Given the description of an element on the screen output the (x, y) to click on. 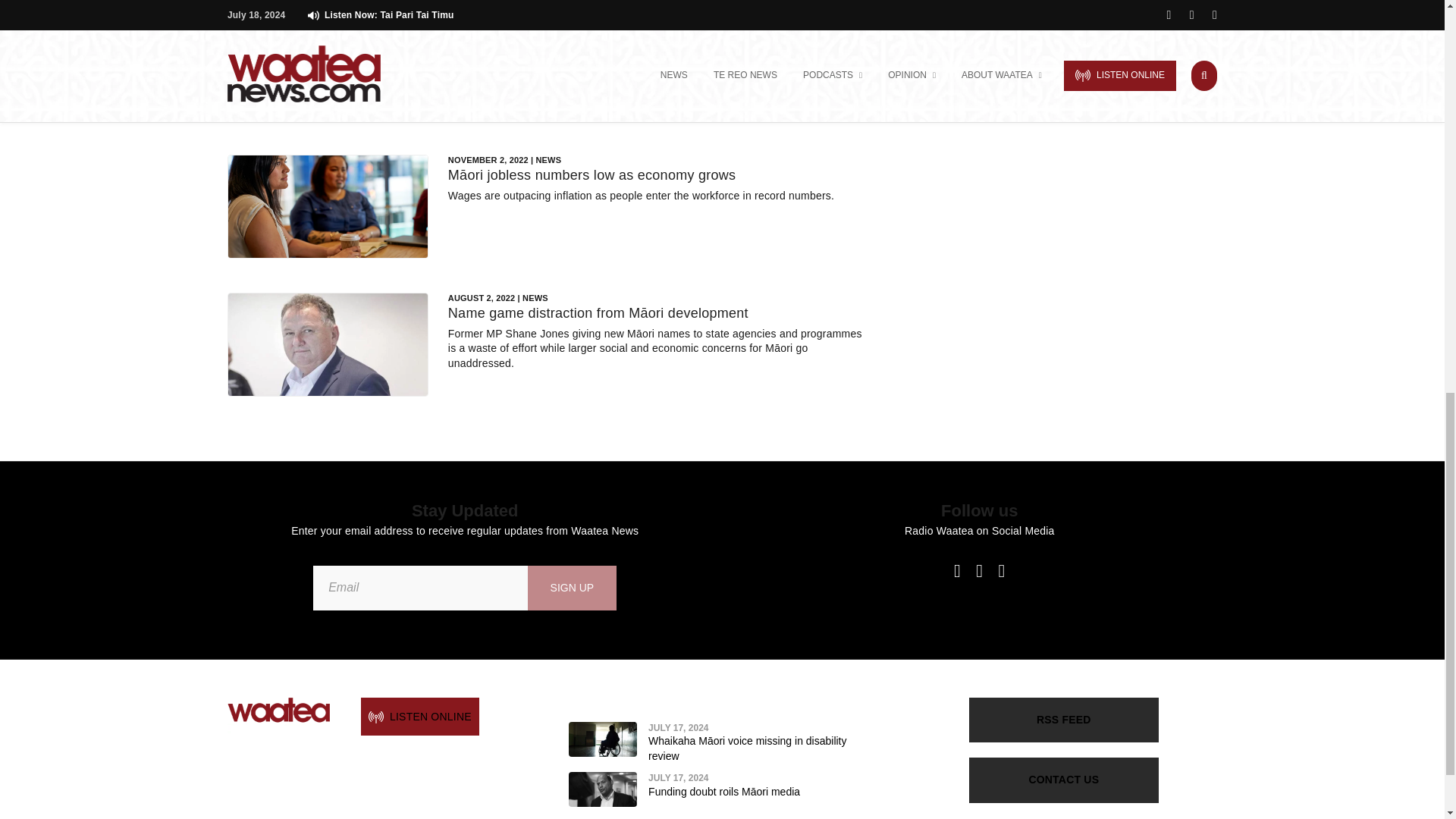
Reserve Bank warns of recession (553, 37)
